Given the description of an element on the screen output the (x, y) to click on. 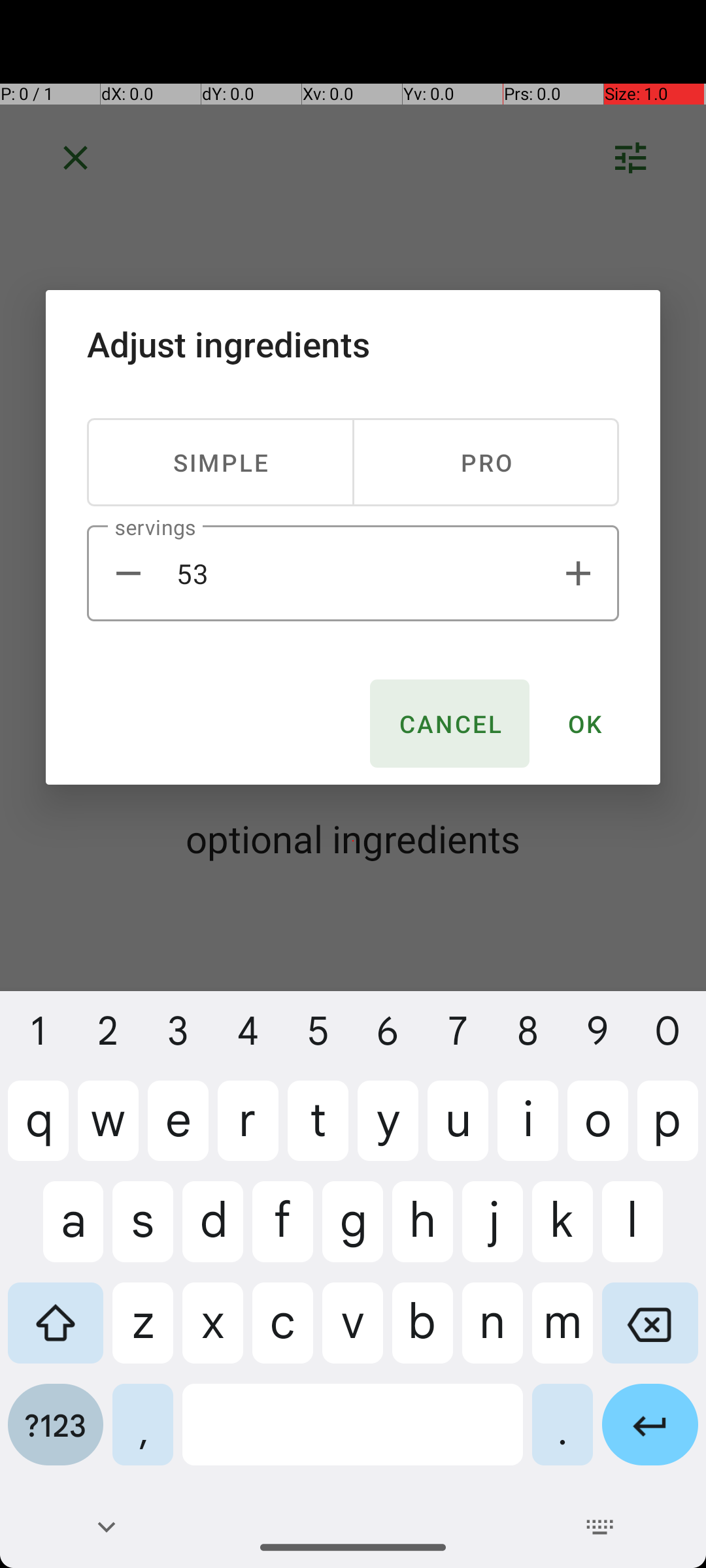
53 Element type: android.widget.EditText (352, 573)
